Given the description of an element on the screen output the (x, y) to click on. 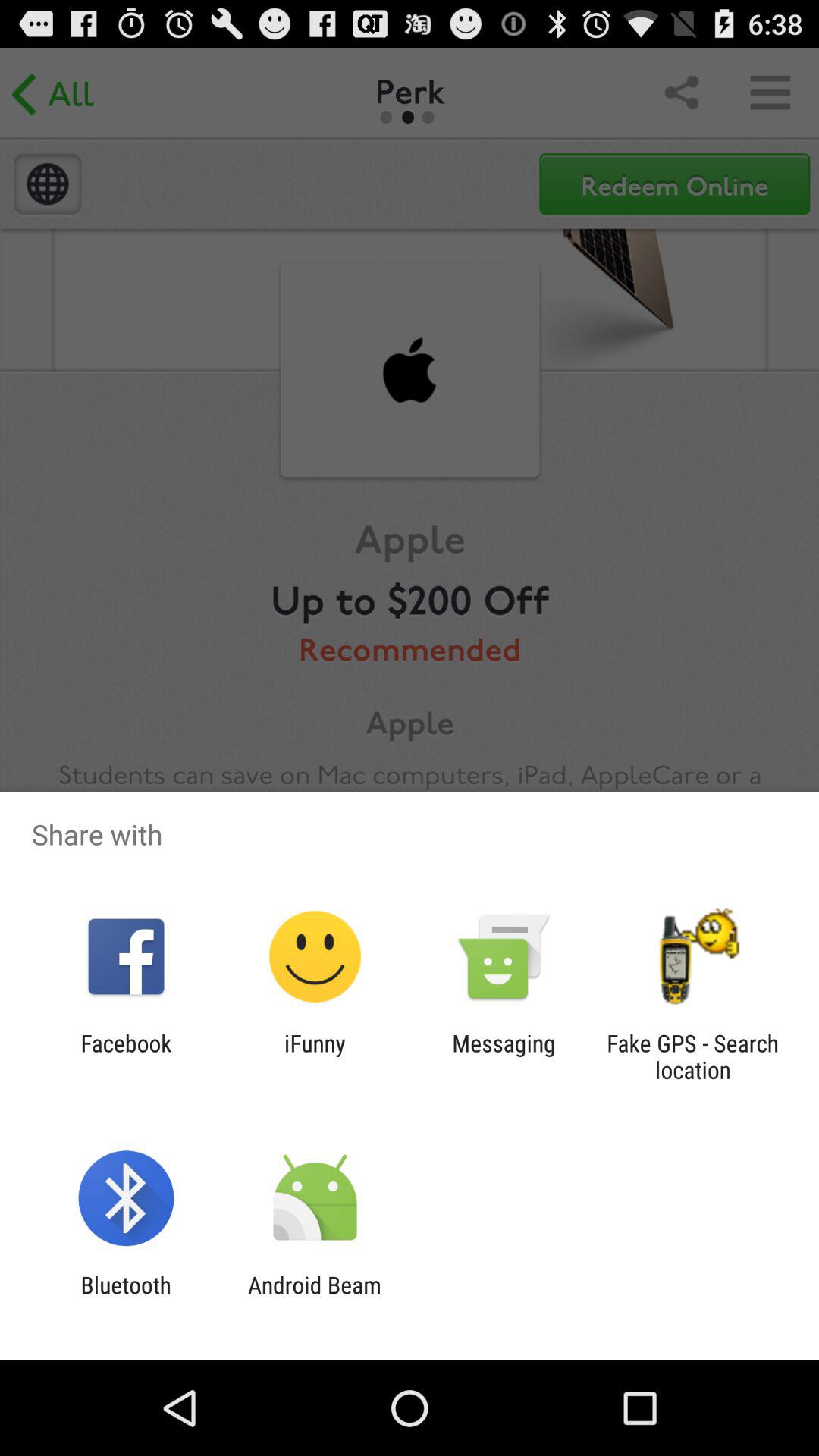
choose the item next to the messaging item (692, 1056)
